Given the description of an element on the screen output the (x, y) to click on. 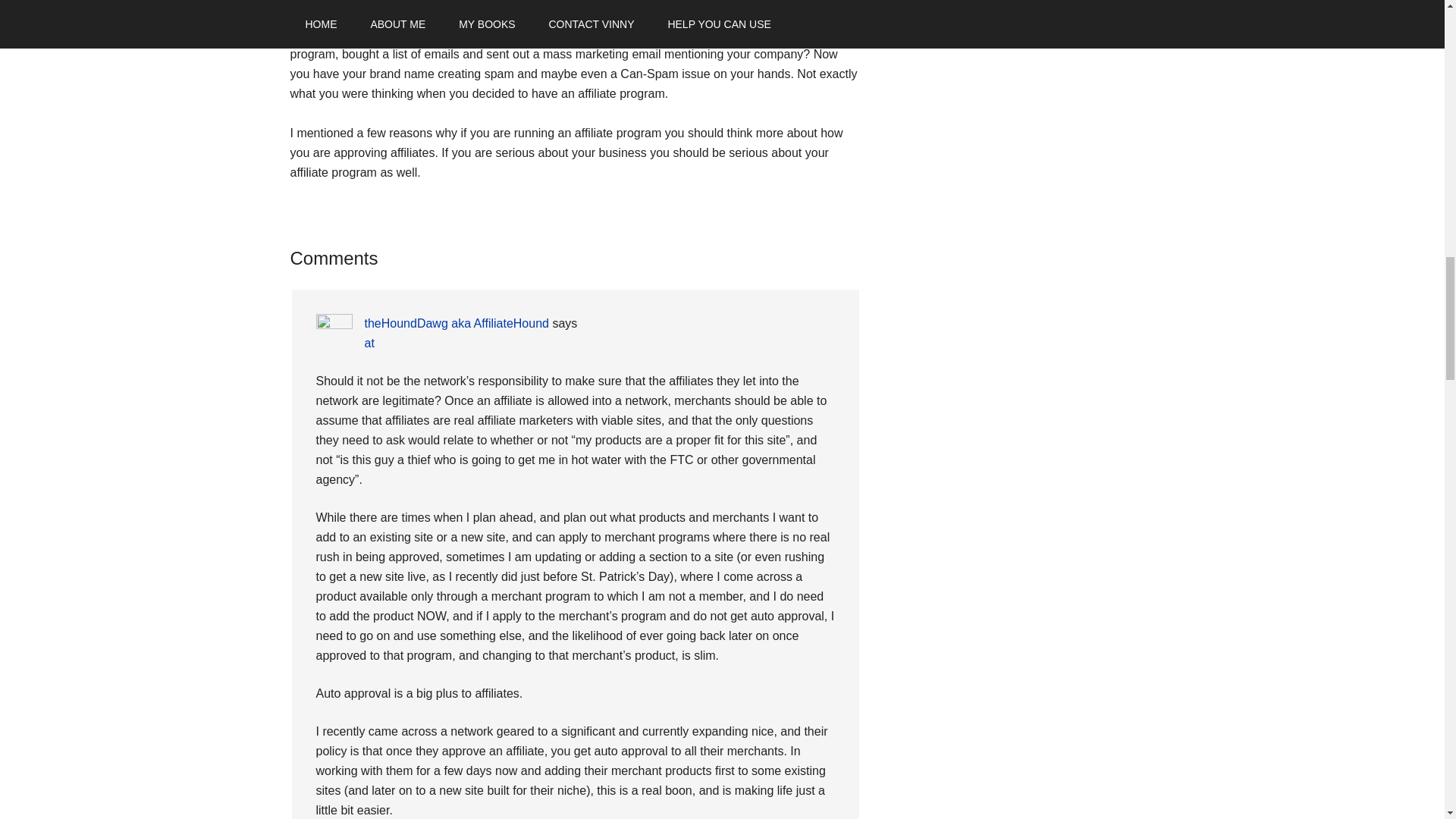
theHoundDawg aka AffiliateHound (456, 323)
at (369, 342)
